Given the description of an element on the screen output the (x, y) to click on. 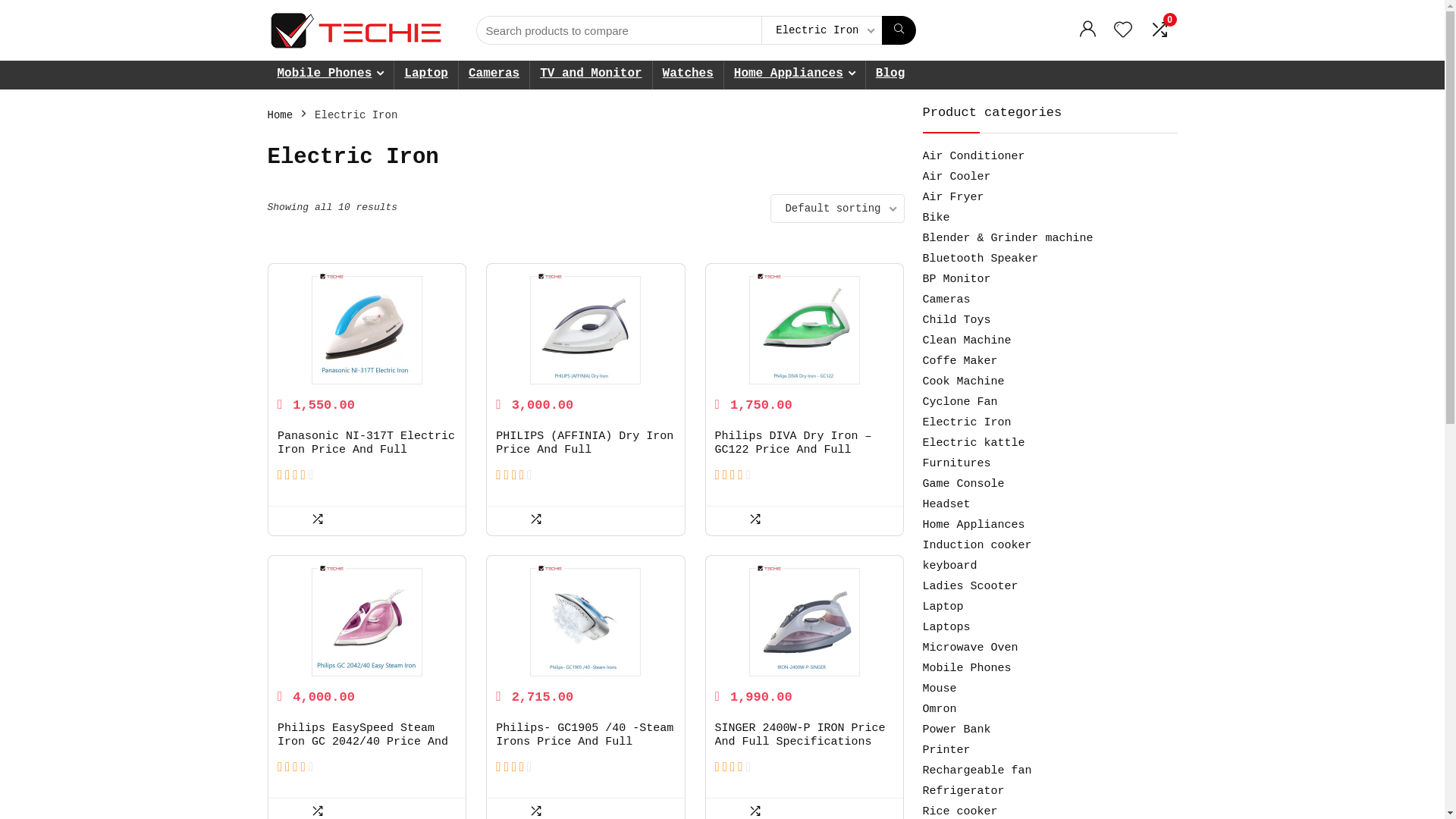
SINGER 2400W-P IRON Price And Full Specifications Element type: text (800, 734)
Child Toys Element type: text (956, 319)
Clean Machine Element type: text (966, 340)
Furnitures Element type: text (956, 463)
PHILIPS (AFFINIA) Dry Iron Price And Full Specifications Element type: text (584, 449)
Air Fryer Element type: text (952, 197)
Cameras Element type: text (945, 299)
Power Bank Element type: text (956, 729)
Blender & Grinder machine Element type: text (1007, 238)
Home Element type: text (279, 115)
Omron Element type: text (939, 708)
Induction cooker Element type: text (976, 545)
Printer Element type: text (945, 749)
Home Appliances Element type: text (794, 74)
Game Console Element type: text (963, 483)
Cook Machine Element type: text (963, 381)
Air Cooler Element type: text (956, 176)
Blog Element type: text (890, 74)
Rice cooker Element type: text (959, 811)
Electric kattle Element type: text (973, 442)
Cyclone Fan Element type: text (959, 401)
Mobile Phones Element type: text (966, 668)
BP Monitor Element type: text (956, 279)
Laptop Element type: text (426, 74)
Laptops Element type: text (945, 627)
Coffe Maker Element type: text (959, 360)
Laptop Element type: text (942, 606)
Bluetooth Speaker Element type: text (980, 258)
Air Conditioner Element type: text (973, 156)
Rechargeable fan Element type: text (976, 770)
TV and Monitor Element type: text (590, 74)
Mouse Element type: text (939, 688)
Bike Element type: text (935, 217)
Electric Iron Element type: text (966, 422)
Home Appliances Element type: text (973, 524)
keyboard Element type: text (949, 565)
Cameras Element type: text (493, 74)
Watches Element type: text (687, 74)
Microwave Oven Element type: text (969, 647)
Refrigerator Element type: text (963, 790)
Headset Element type: text (945, 504)
Mobile Phones Element type: text (329, 74)
Ladies Scooter Element type: text (969, 586)
